Given the description of an element on the screen output the (x, y) to click on. 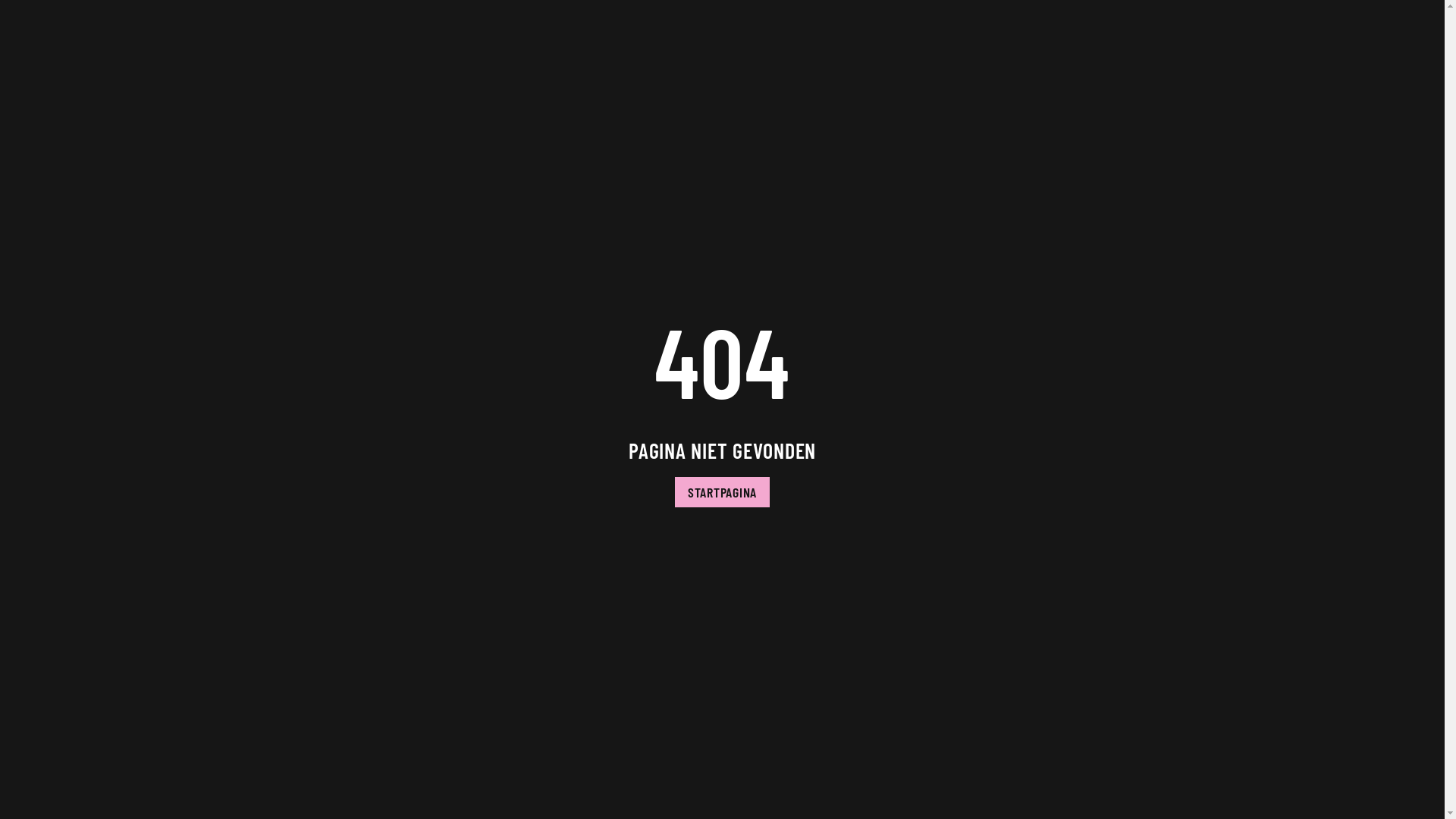
STARTPAGINA Element type: text (721, 491)
